Given the description of an element on the screen output the (x, y) to click on. 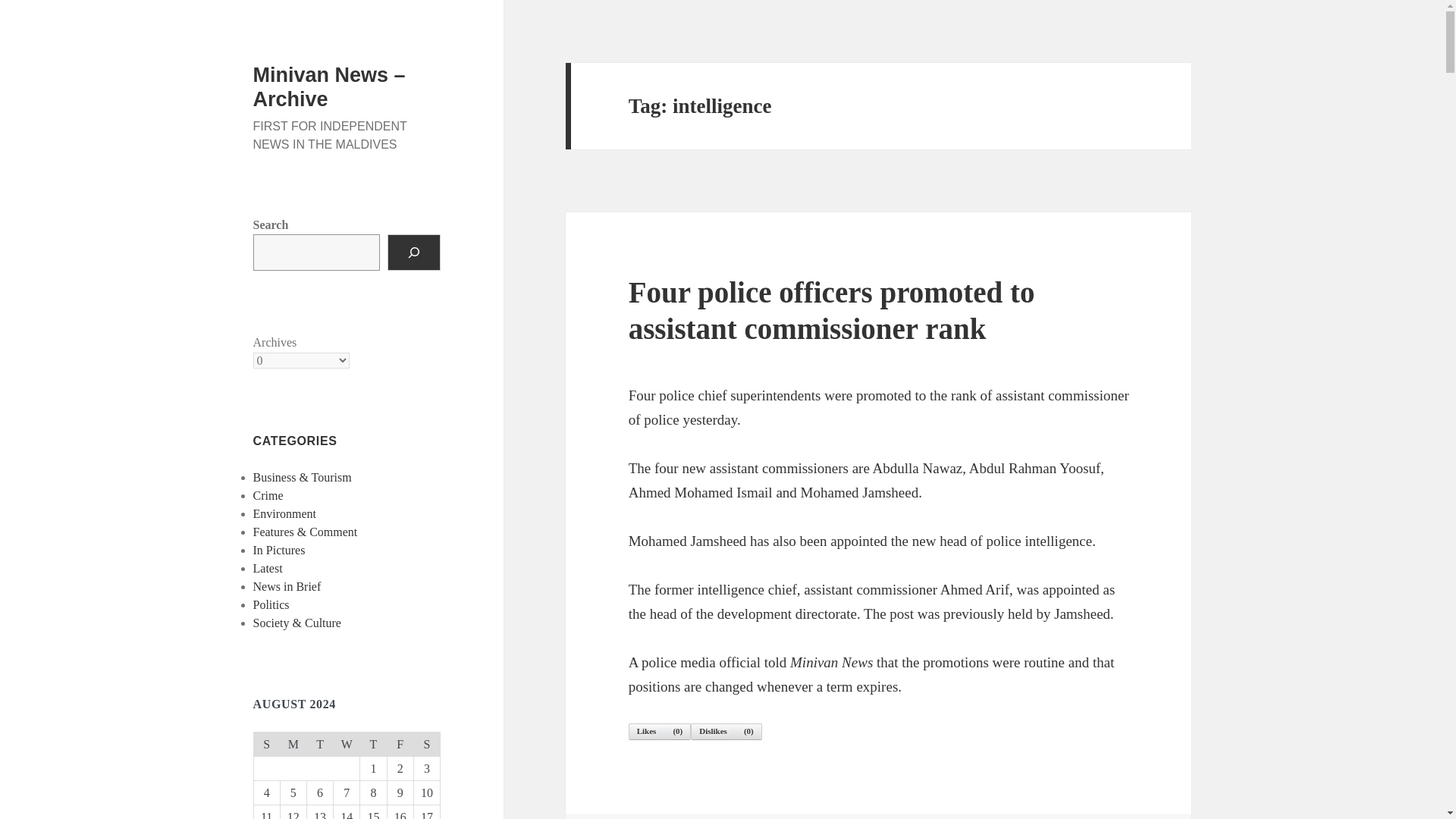
Monday (292, 743)
Crime (268, 495)
Tuesday (319, 743)
Wednesday (346, 743)
Saturday (426, 743)
Friday (400, 743)
Latest (267, 567)
Politics (271, 604)
Environment (285, 513)
In Pictures (279, 549)
